Given the description of an element on the screen output the (x, y) to click on. 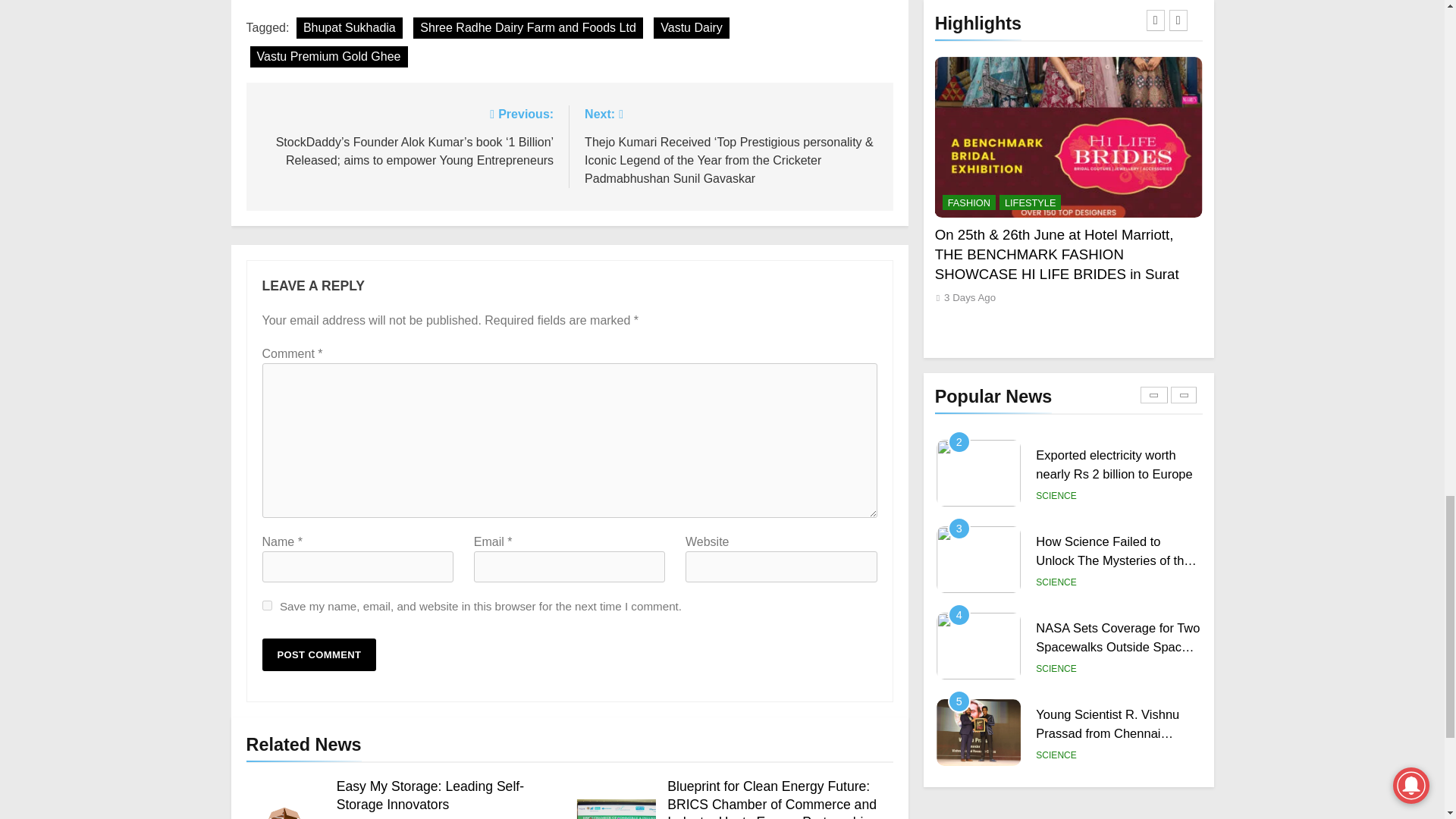
Post Comment (319, 654)
yes (267, 605)
